Given the description of an element on the screen output the (x, y) to click on. 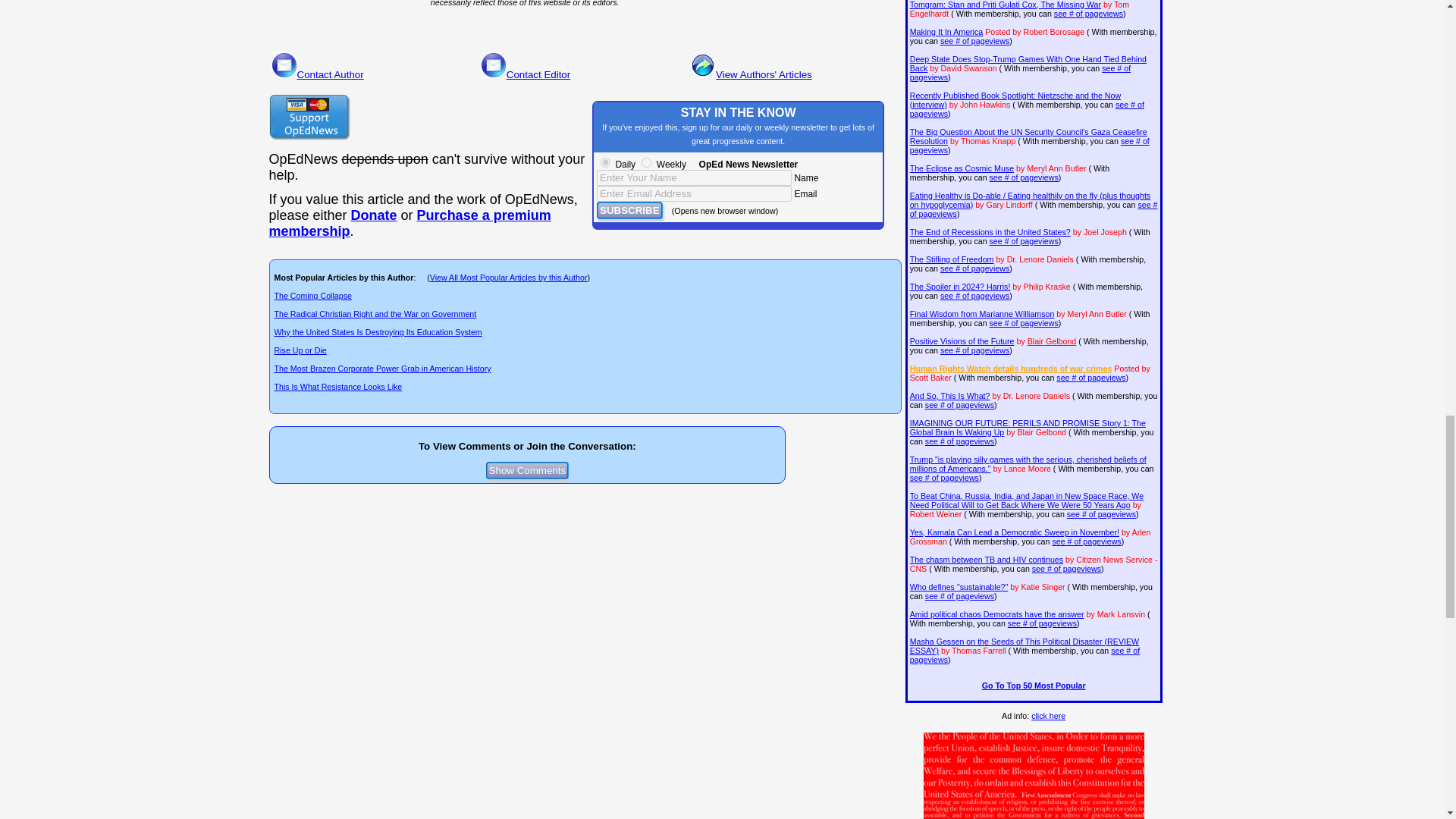
SUBSCRIBE (629, 210)
Enter Email Address (694, 193)
Writers Guidelines (759, 10)
Daily (604, 162)
Weekly (646, 162)
Show Comments (527, 470)
Enter Your Name (694, 177)
